Given the description of an element on the screen output the (x, y) to click on. 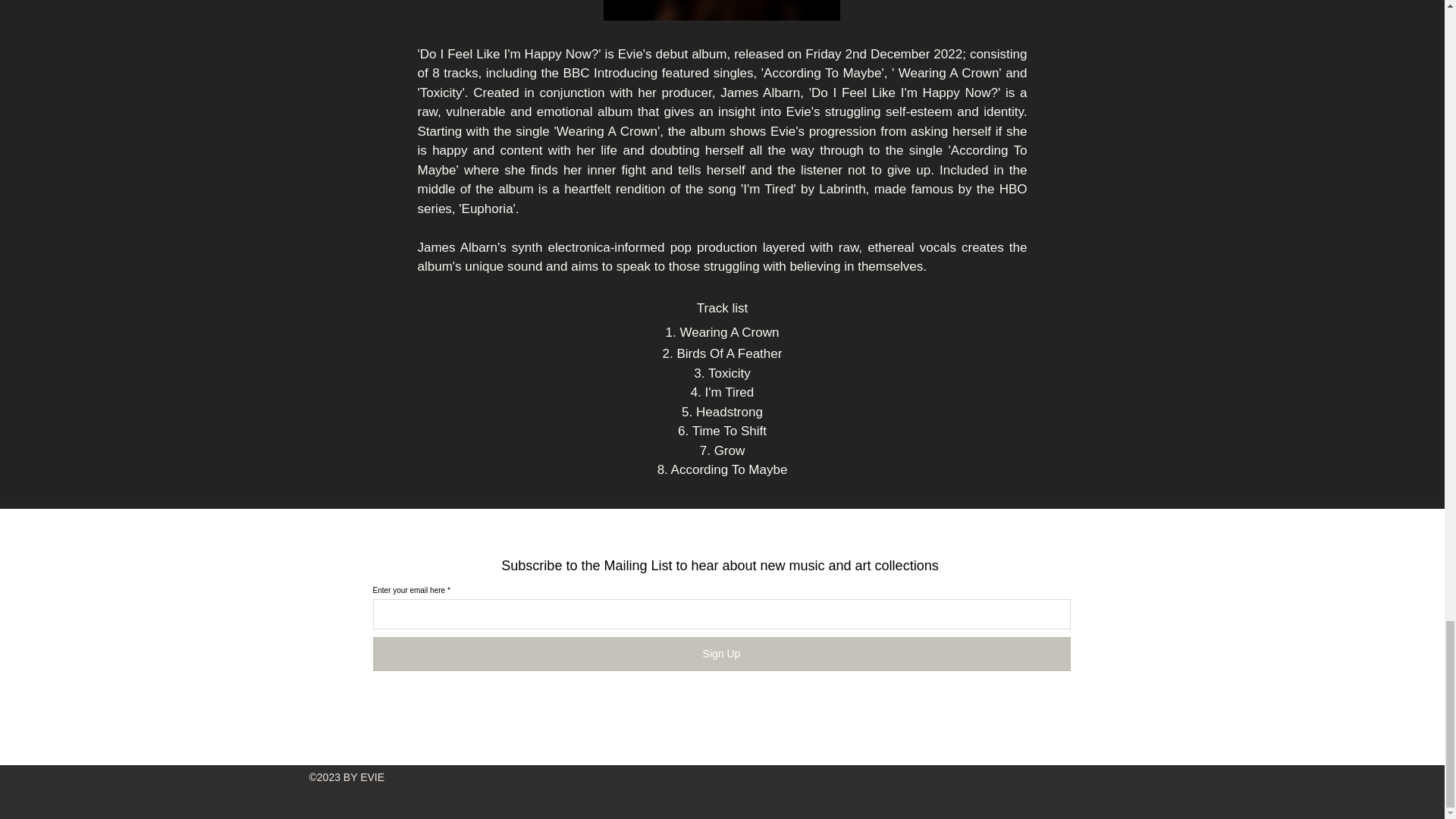
Sign Up (721, 653)
